Given the description of an element on the screen output the (x, y) to click on. 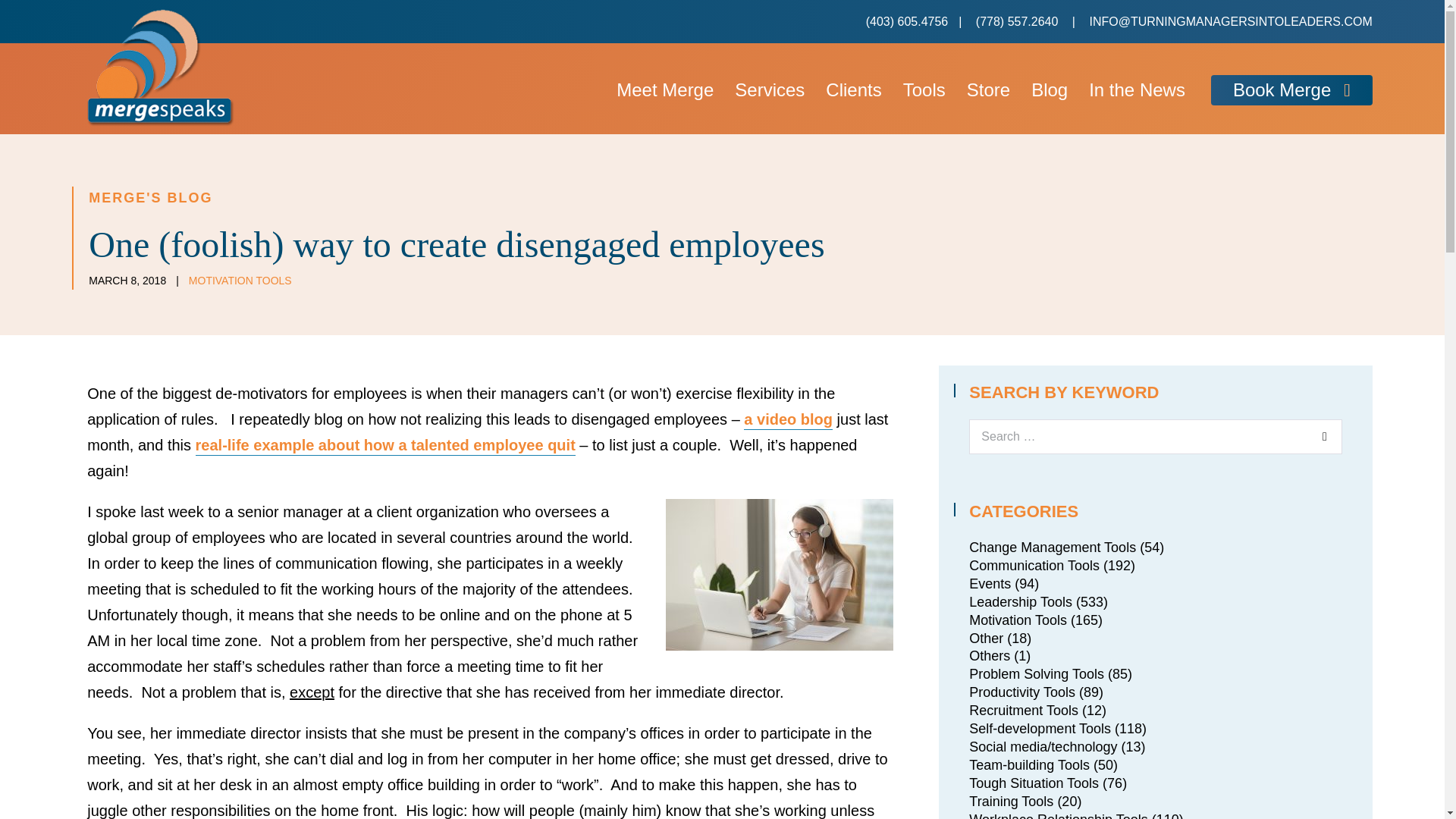
real-life example about how a talented employee quit (385, 445)
a video blog (788, 420)
merge-speaks-logo (160, 67)
Meet Merge (664, 90)
Blog (1049, 90)
Book Merge (1292, 90)
disengaged employees (779, 574)
Press enter to search (1154, 436)
MOTIVATION TOOLS (240, 280)
Services (769, 90)
Tools (924, 90)
In the News (1136, 90)
Store (988, 90)
Clients (853, 90)
